Given the description of an element on the screen output the (x, y) to click on. 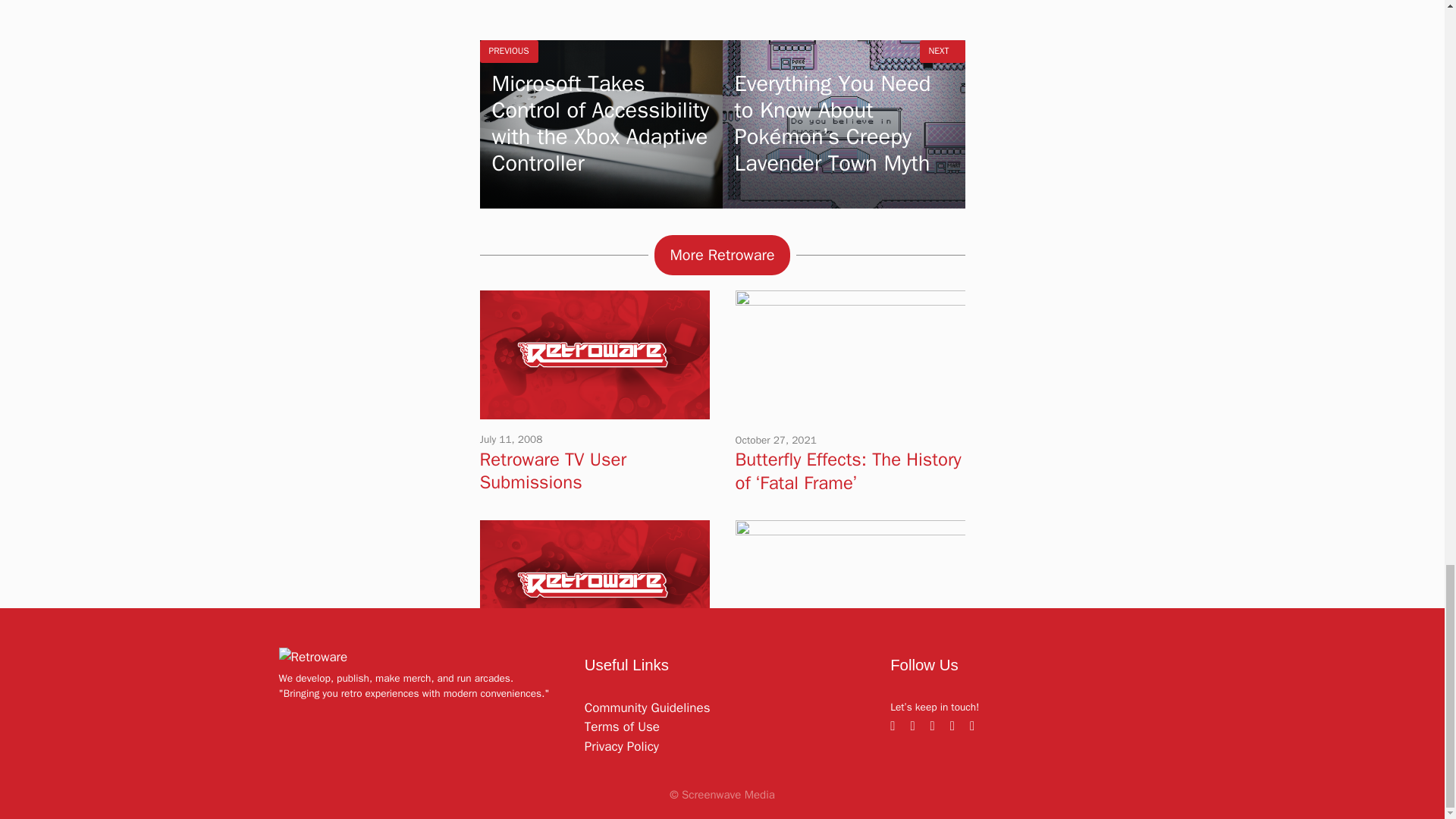
12:30 pm (767, 669)
October 27, 2021 (775, 440)
12:02 pm (511, 669)
Screenwave Media (727, 794)
Tempest Replicade Review (594, 639)
Retroware (313, 657)
July 11, 2008 (510, 439)
Retroware TV User Submissions (594, 409)
2:30 pm (775, 440)
Retroware TV User Submissions (552, 470)
Tempest Replicade Review (585, 689)
11:47 am (510, 439)
